Given the description of an element on the screen output the (x, y) to click on. 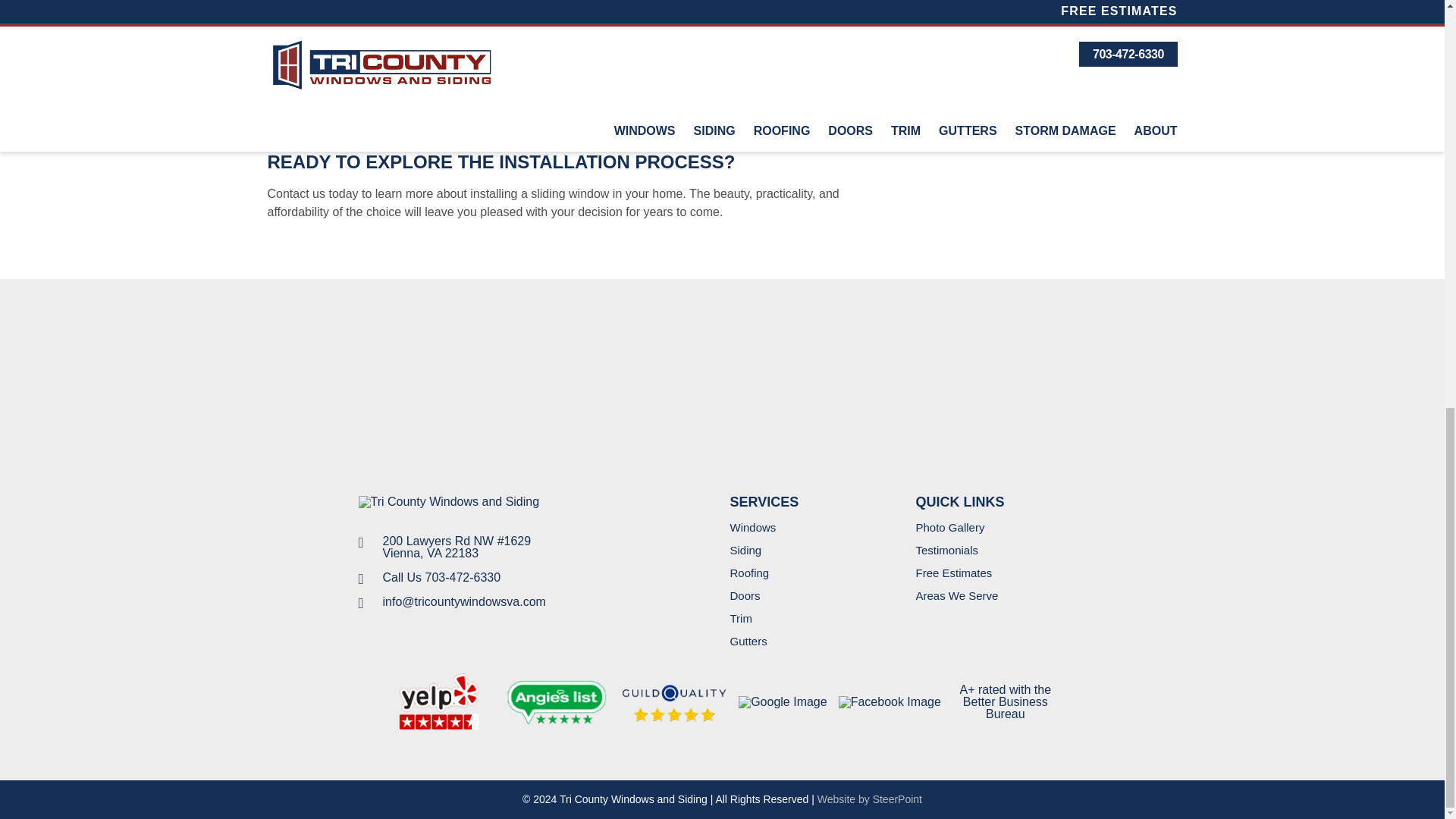
Angies List (556, 701)
Facebook Image (889, 702)
Quild Quality (673, 701)
Google (782, 702)
Yelp (438, 701)
